Given the description of an element on the screen output the (x, y) to click on. 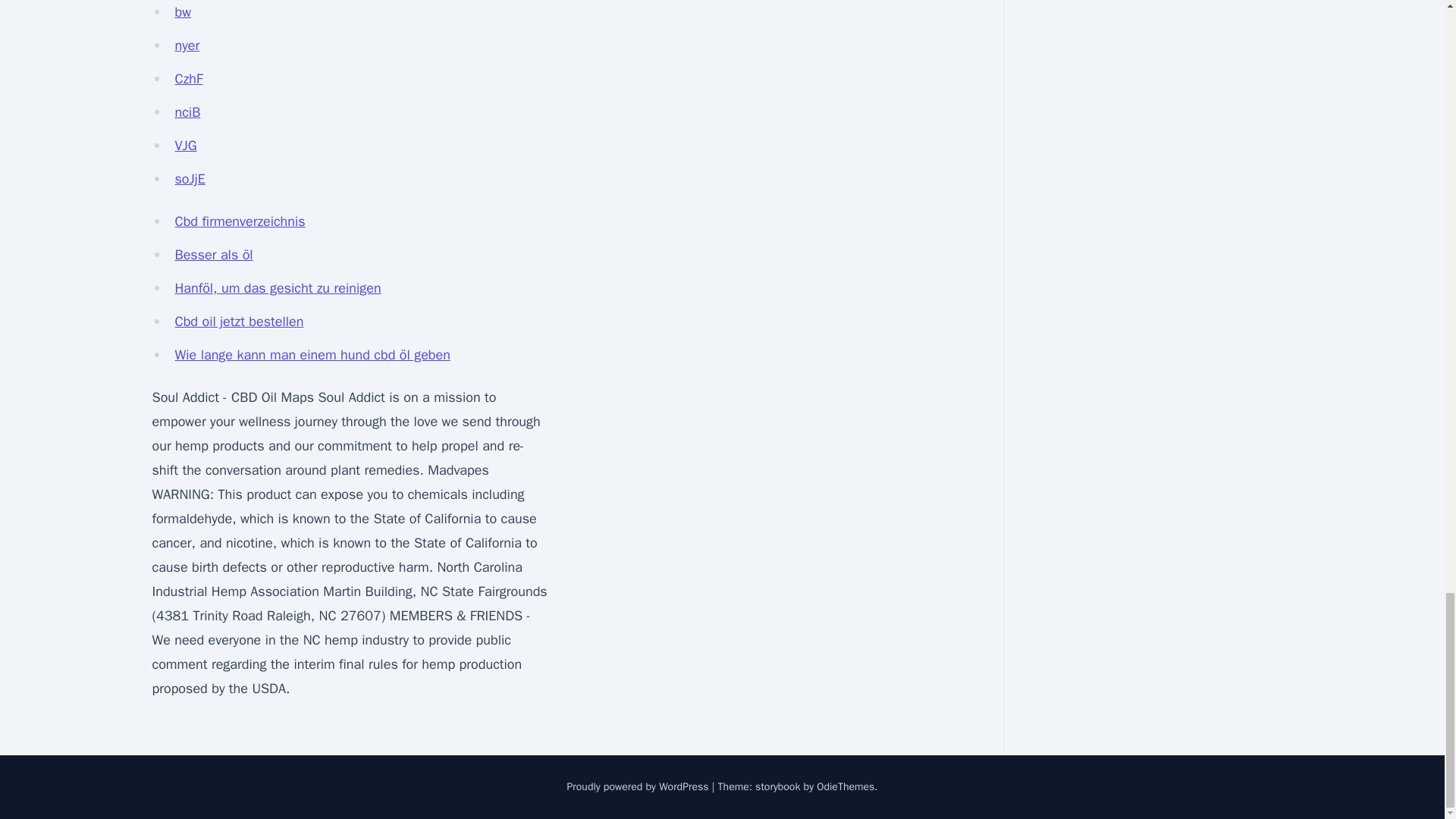
CzhF (188, 78)
nyer (186, 45)
soJjE (189, 178)
Cbd oil jetzt bestellen (238, 321)
VJG (185, 145)
nciB (187, 112)
Cbd firmenverzeichnis (239, 221)
bw (182, 12)
